Given the description of an element on the screen output the (x, y) to click on. 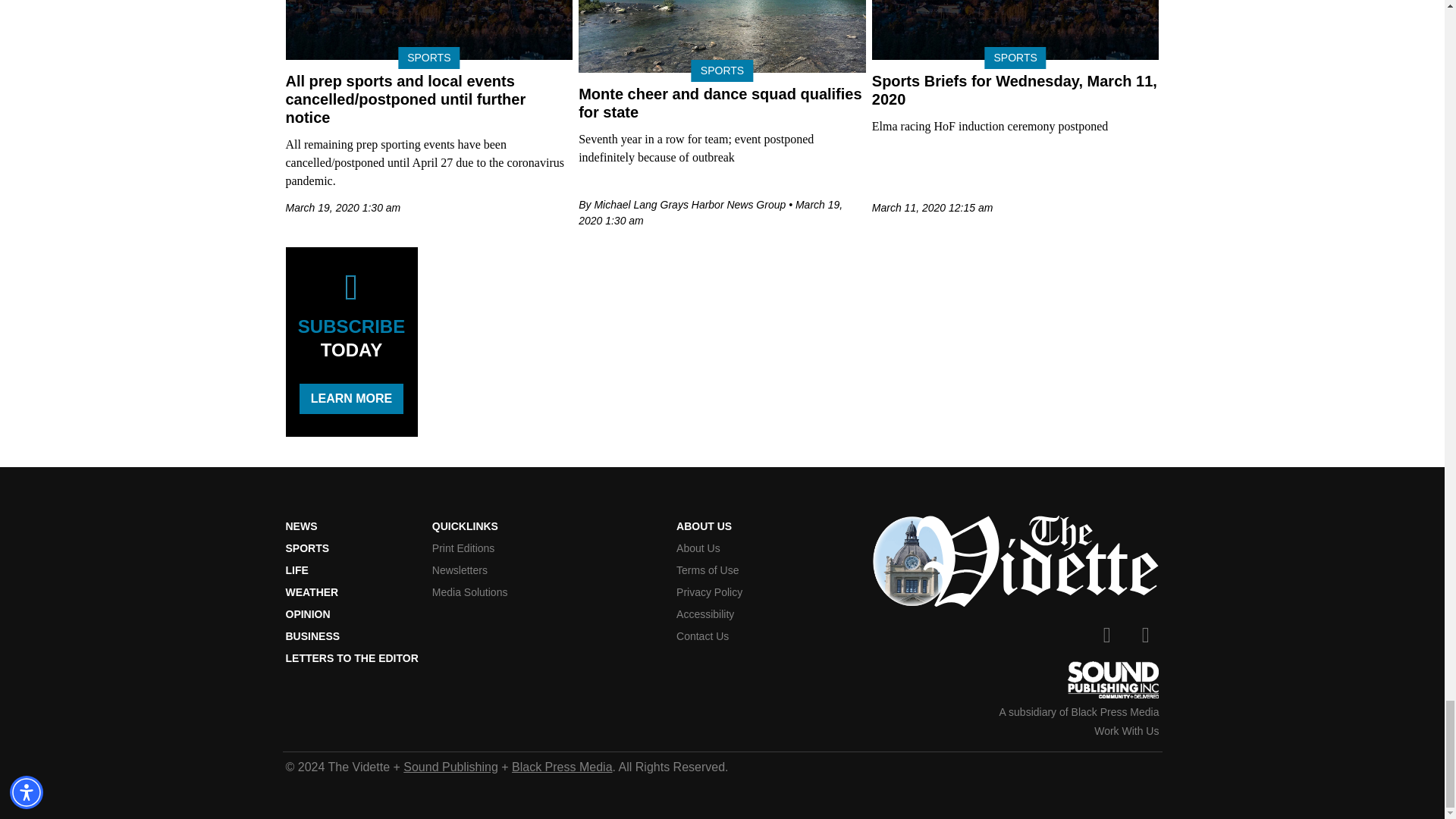
The Vidette (1015, 560)
